Given the description of an element on the screen output the (x, y) to click on. 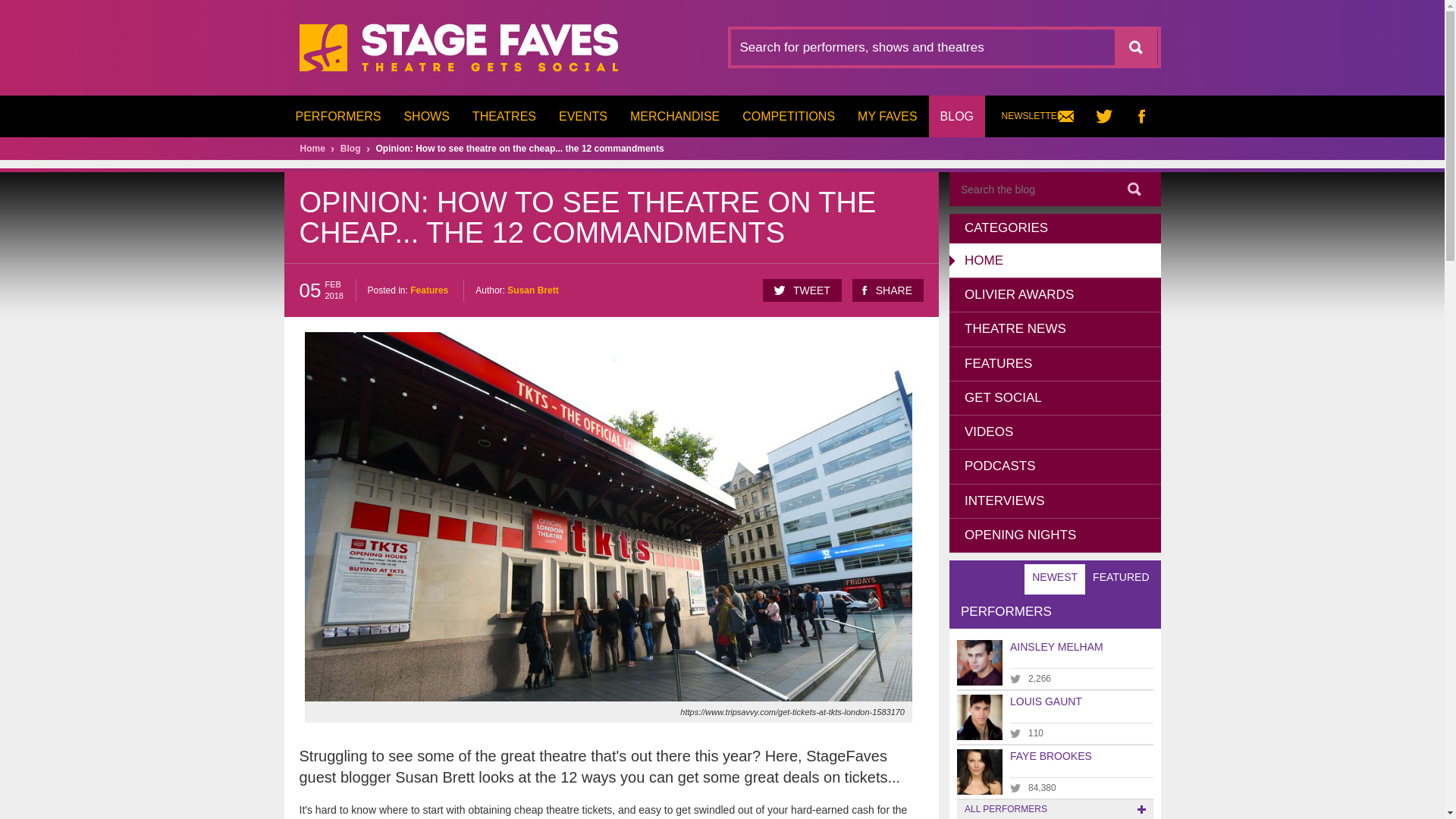
Susan Brett (531, 290)
PERFORMERS (337, 116)
Follow us on Facebook (1141, 116)
Blog (350, 148)
Home (311, 148)
Subscribe to our Newsletter (1042, 116)
SHOWS (425, 116)
COMPETITIONS (787, 116)
MY FAVES (886, 116)
NEWSLETTER (1042, 116)
SHARE (887, 290)
MERCHANDISE (674, 116)
Features (429, 290)
TWEET (801, 290)
